Given the description of an element on the screen output the (x, y) to click on. 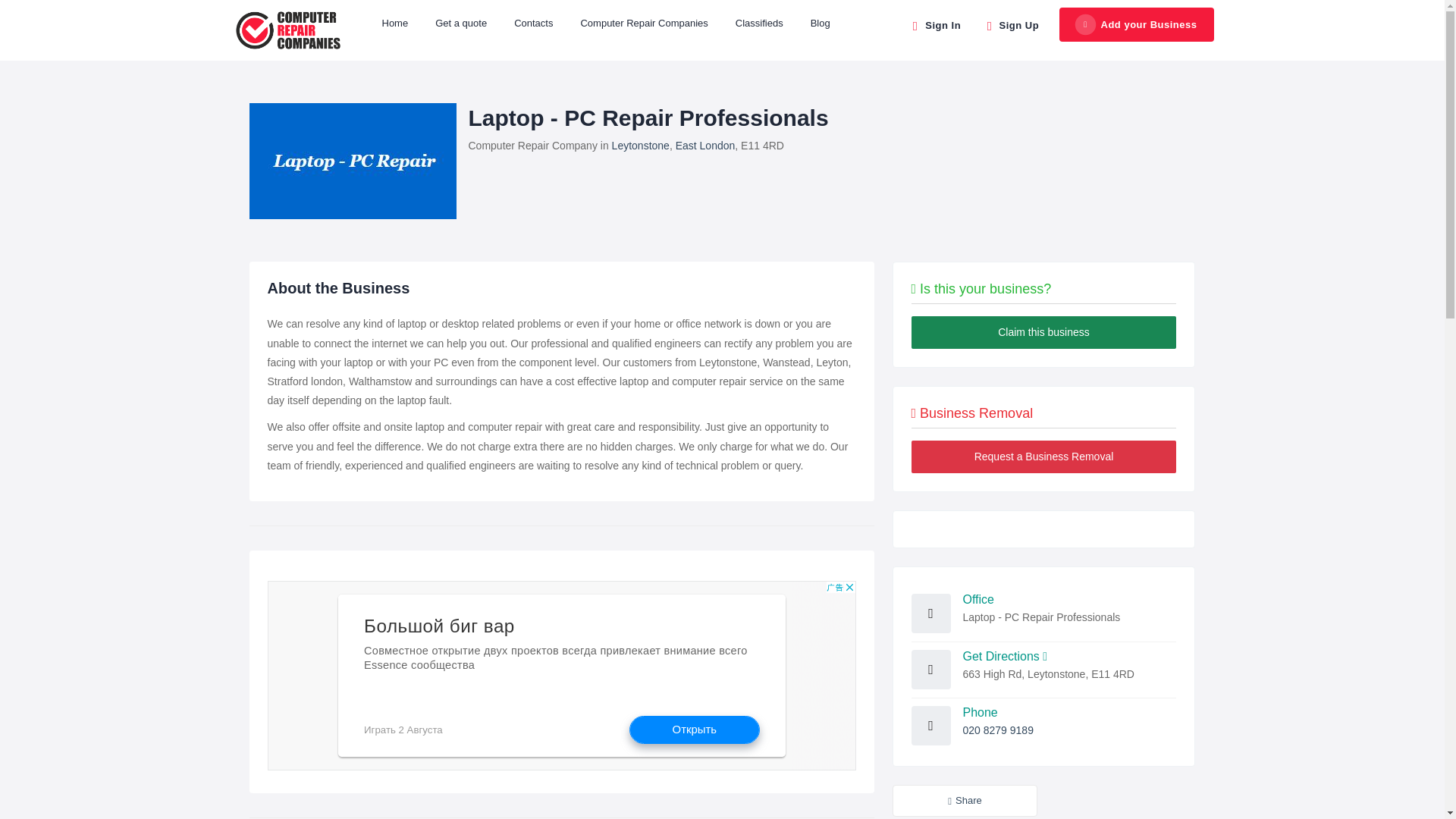
Leytonstone (640, 145)
Contacts (533, 22)
Request a Business Removal (1043, 456)
Blog (820, 22)
Classifieds (759, 22)
Laptop - PC Repair Professionals (351, 161)
Advertisement (561, 675)
Sign Up (1011, 23)
Sign In (934, 23)
Home (395, 22)
Get Directions (1005, 656)
020 8279 9189 (997, 729)
Computer Repair Companies (643, 22)
Get a quote (461, 22)
Add your Business (1136, 25)
